Given the description of an element on the screen output the (x, y) to click on. 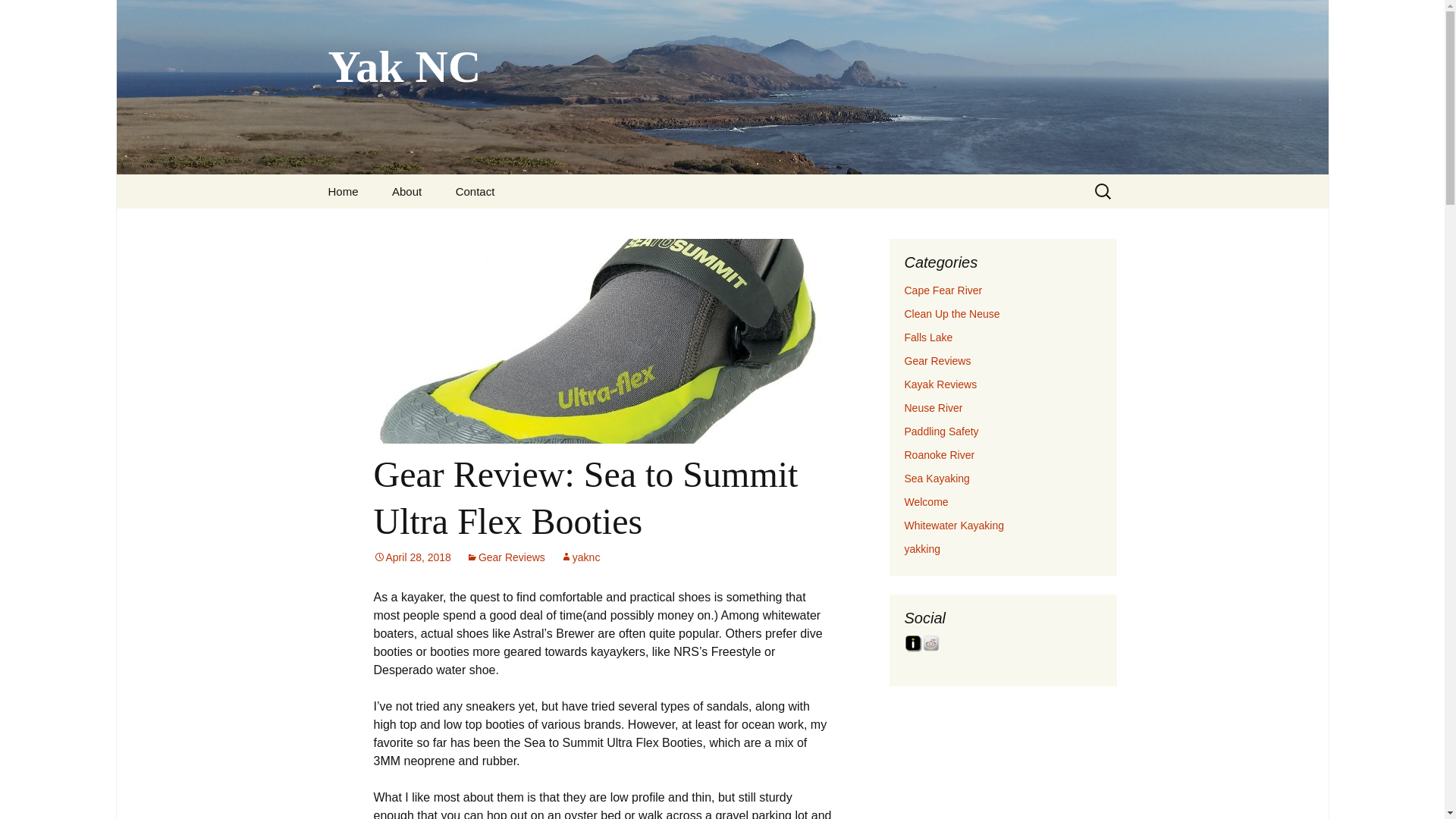
About (406, 191)
Cape Fear River (942, 290)
Whitewater Kayaking (954, 525)
Falls Lake (928, 337)
Welcome (925, 501)
Gear Reviews (504, 557)
Permalink to Gear Review: Sea to Summit Ultra Flex Booties (410, 557)
yakking (921, 548)
Roanoke River (939, 454)
